Given the description of an element on the screen output the (x, y) to click on. 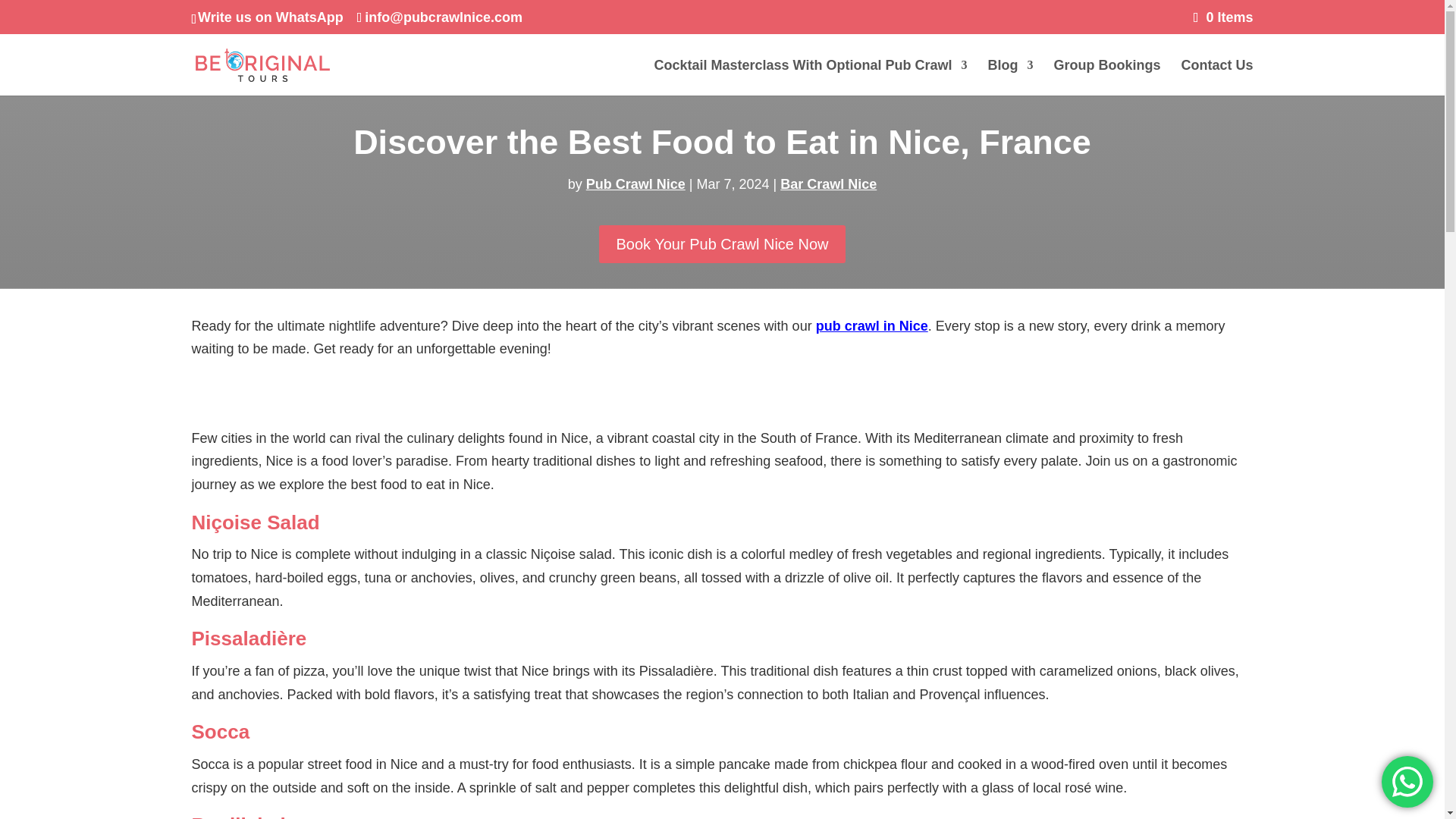
Blog (1009, 77)
Write us on WhatsApp (270, 16)
Cocktail Masterclass With Optional Pub Crawl (809, 77)
Pub Crawl Nice (635, 183)
Group Bookings (1106, 77)
0 Items (1223, 16)
Book Your Pub Crawl Nice Now (721, 243)
WhatsApp us (1406, 781)
pub crawl in Nice (871, 325)
Posts by Pub Crawl Nice (635, 183)
Bar Crawl Nice (828, 183)
Contact Us (1216, 77)
